Given the description of an element on the screen output the (x, y) to click on. 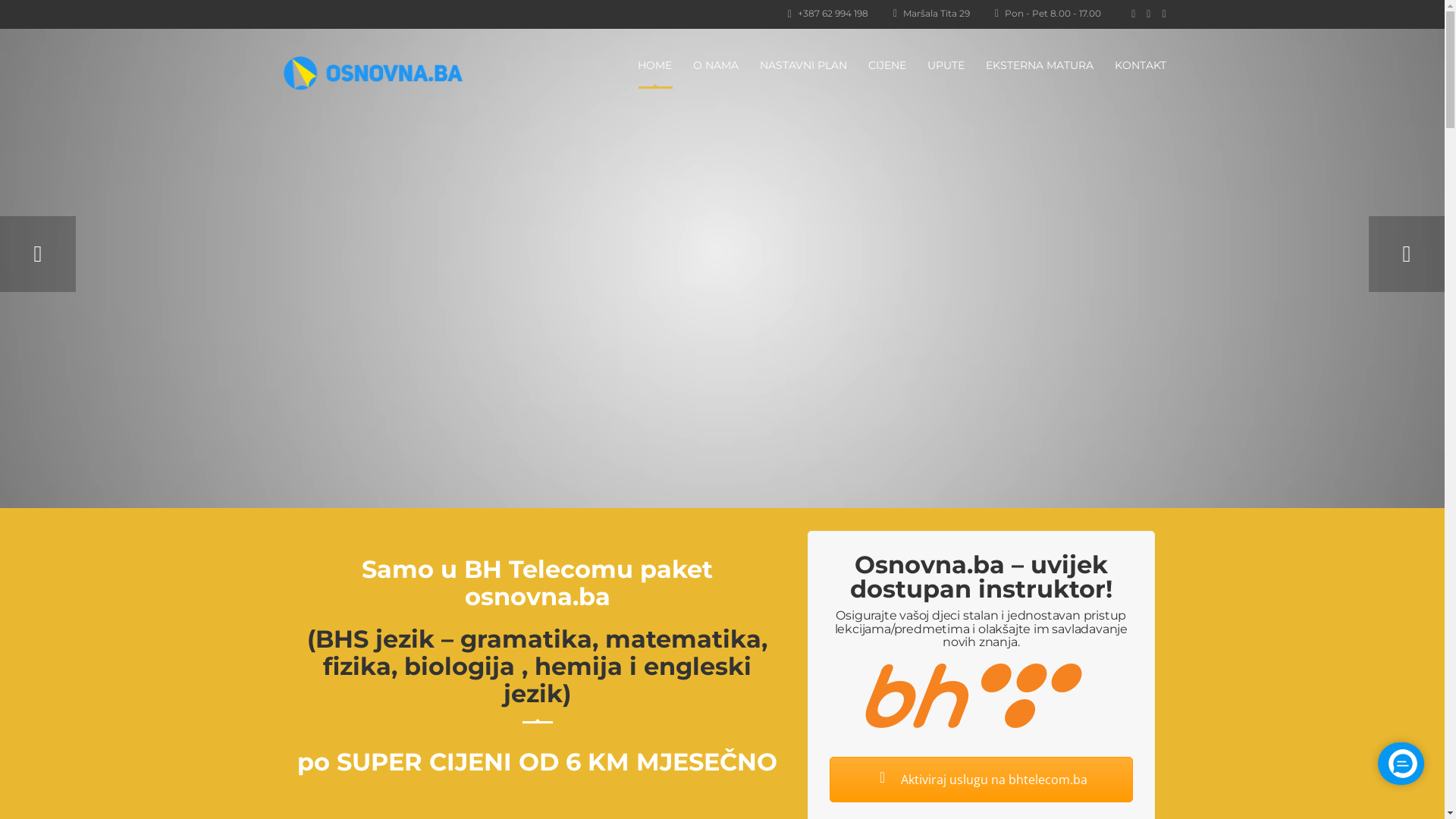
UPUTE Element type: text (944, 65)
KONTAKT Element type: text (1140, 65)
HOME Element type: text (654, 65)
Aktiviraj uslugu na bhtelecom.ba Element type: text (980, 779)
EKSTERNA MATURA Element type: text (1039, 65)
NASTAVNI PLAN Element type: text (803, 65)
CIJENE Element type: text (886, 65)
O NAMA Element type: text (715, 65)
